Given the description of an element on the screen output the (x, y) to click on. 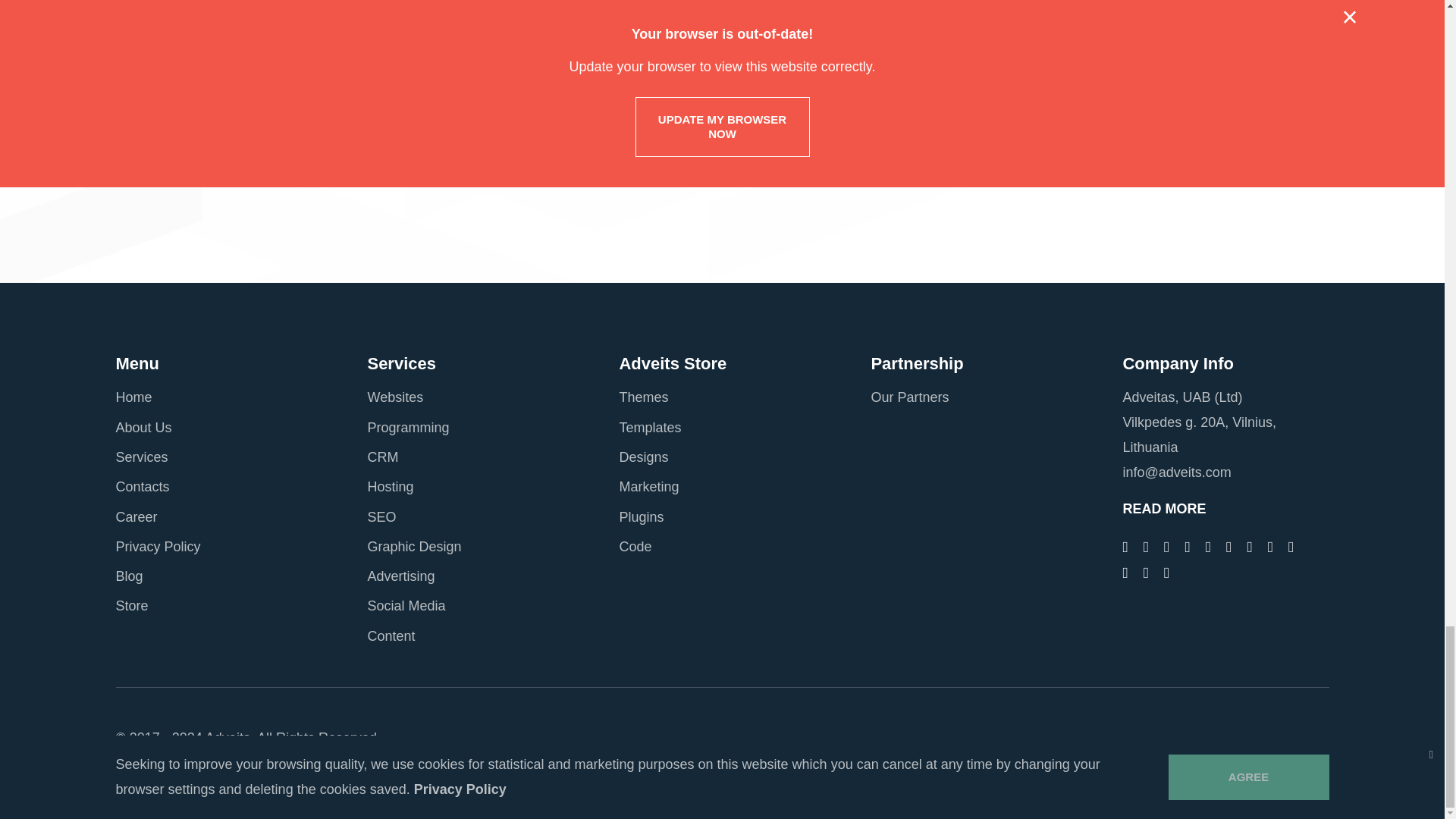
Privacy Policy (157, 546)
About Us (143, 427)
GET AN OFFER (641, 138)
CONTACT (802, 138)
Home (133, 396)
Career (136, 516)
Services (141, 457)
Contacts (141, 486)
Blog (128, 575)
